Given the description of an element on the screen output the (x, y) to click on. 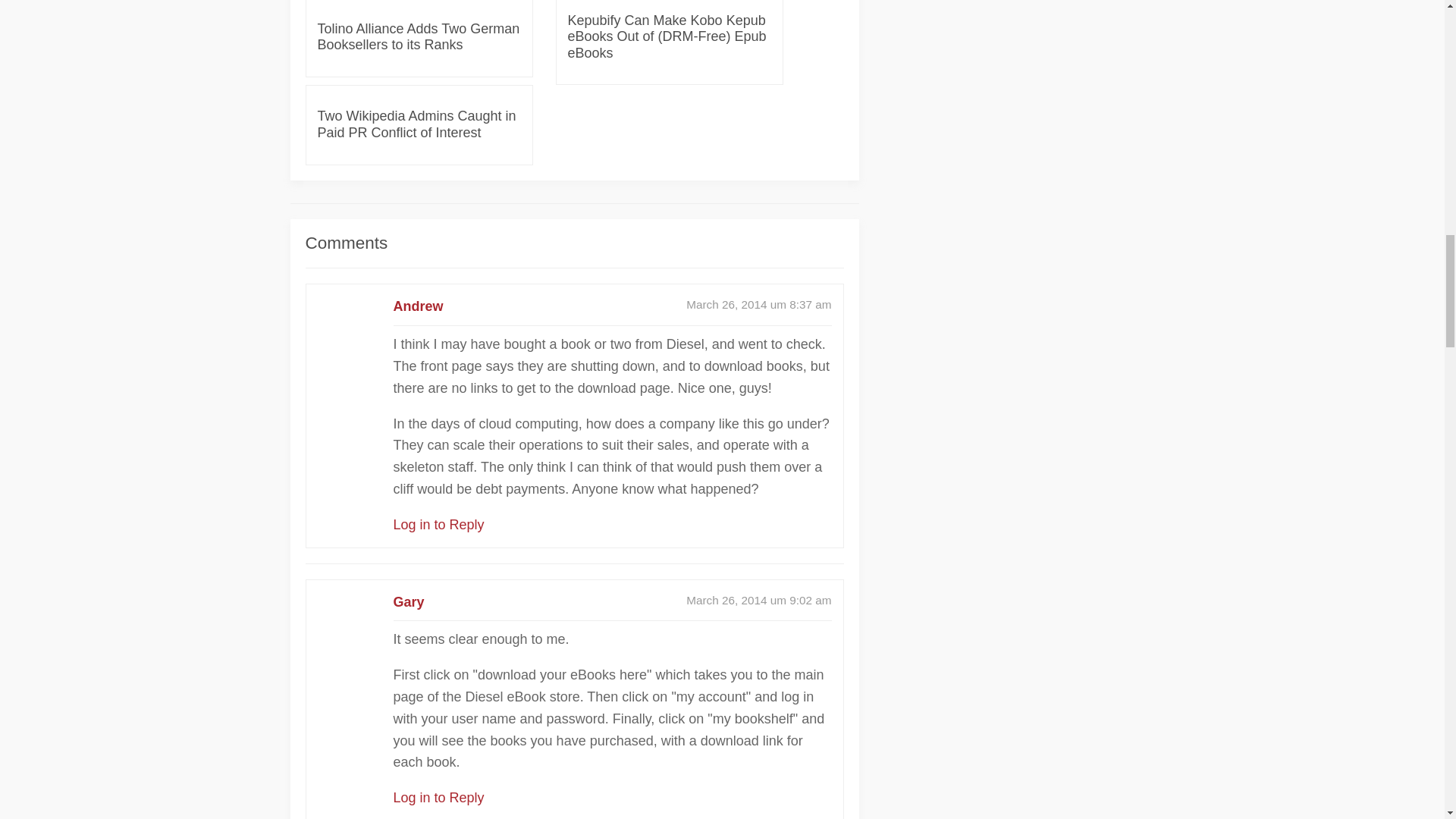
Log in to Reply (438, 797)
Tolino Alliance Adds Two German Booksellers to its Ranks (418, 37)
Two Wikipedia Admins Caught in Paid PR Conflict of Interest (418, 124)
Tolino Alliance Adds Two German Booksellers to its Ranks (418, 37)
Tolino Alliance Adds Two German Booksellers to its Ranks (418, 4)
Log in to Reply (438, 524)
Two Wikipedia Admins Caught in Paid PR Conflict of Interest (418, 124)
